Given the description of an element on the screen output the (x, y) to click on. 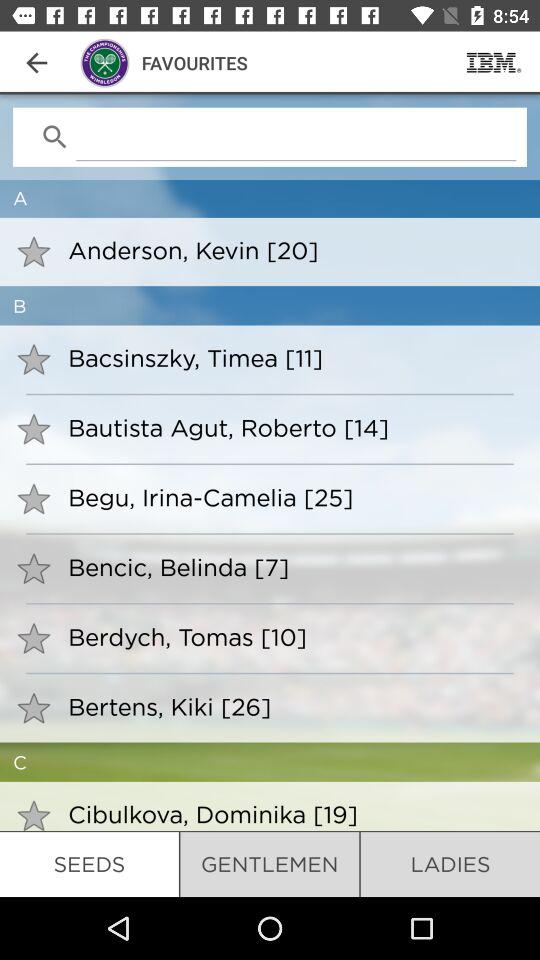
jump to seeds icon (89, 863)
